Given the description of an element on the screen output the (x, y) to click on. 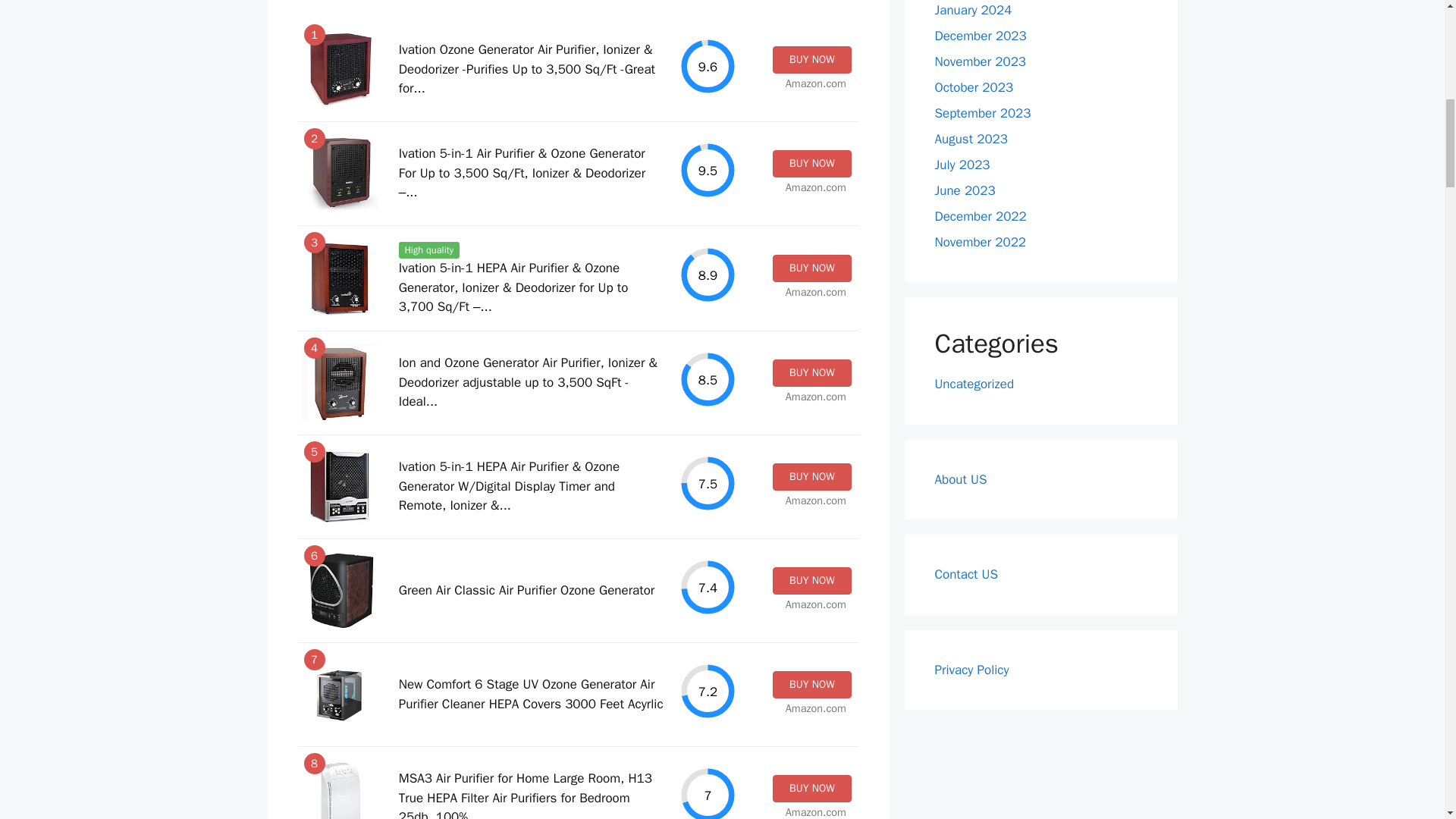
7.4 (707, 586)
BUY NOW (811, 580)
7 (707, 792)
8.5 (707, 379)
9.6 (707, 66)
7.5 (707, 483)
8.9 (707, 274)
BUY NOW (811, 163)
9.5 (707, 170)
Green Air Classic Air Purifier Ozone Generator (525, 590)
BUY NOW (811, 476)
7.2 (707, 690)
BUY NOW (811, 267)
BUY NOW (811, 372)
